Given the description of an element on the screen output the (x, y) to click on. 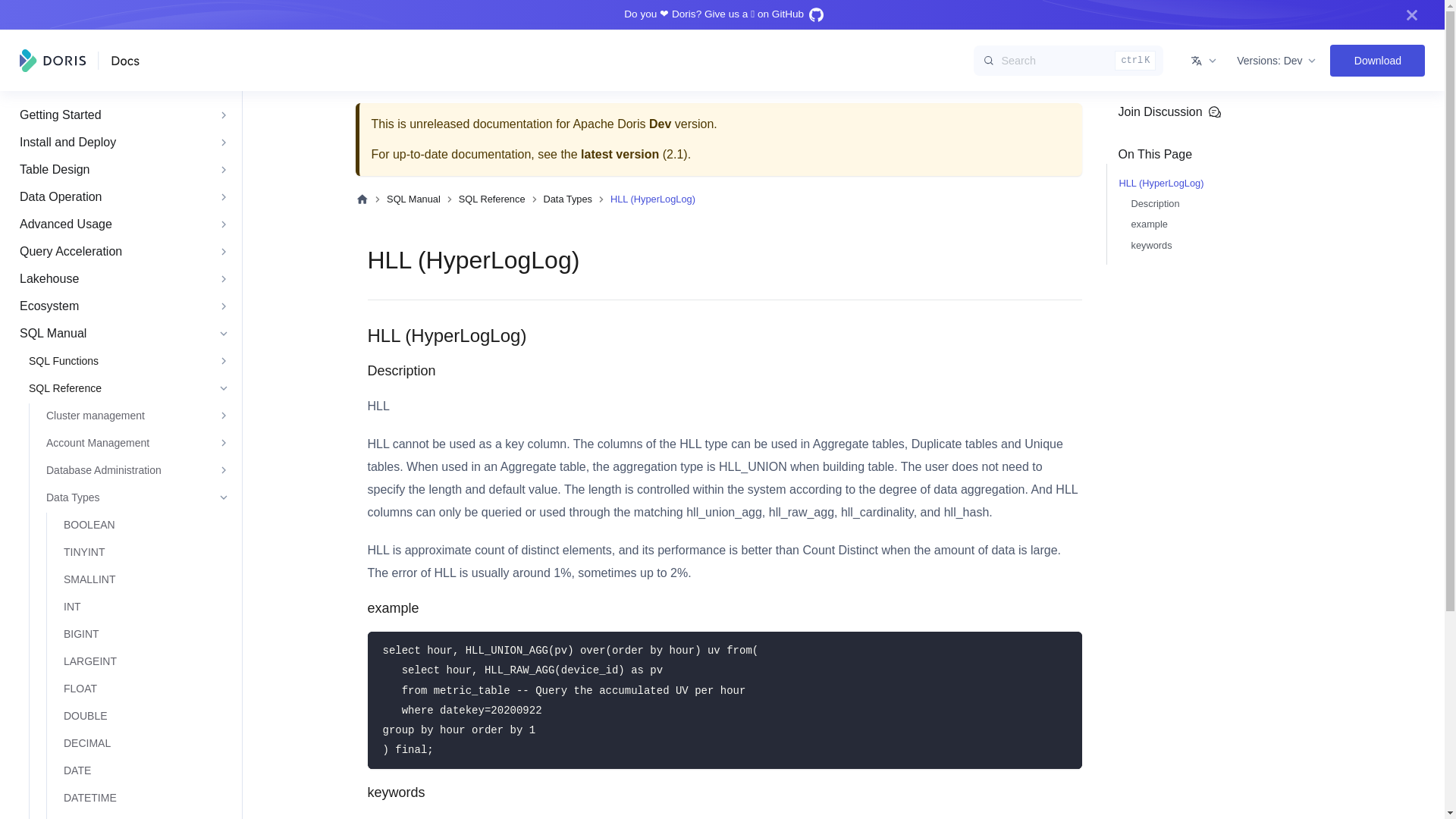
Database Administration (135, 469)
Install and Deploy (121, 142)
SQL Manual (121, 333)
Download (1377, 60)
Data Operation (121, 197)
SQL Functions (126, 360)
Versions: Dev (1276, 60)
Advanced Usage (121, 224)
Ecosystem (121, 306)
Query Acceleration (121, 251)
